Given the description of an element on the screen output the (x, y) to click on. 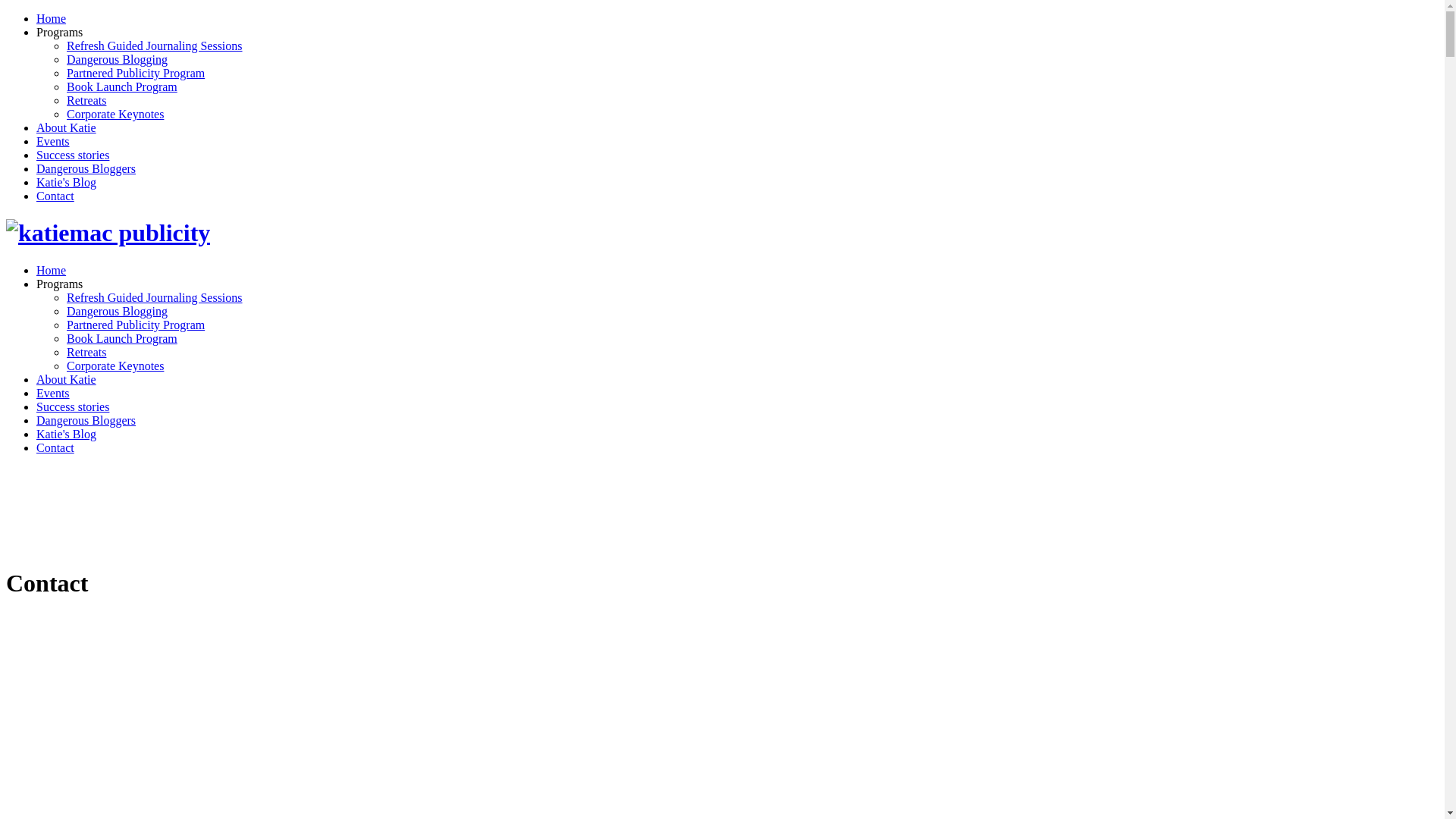
Events Element type: text (52, 140)
Corporate Keynotes Element type: text (114, 113)
Refresh Guided Journaling Sessions Element type: text (154, 45)
Refresh Guided Journaling Sessions Element type: text (154, 297)
Dangerous Bloggers Element type: text (85, 420)
Events Element type: text (52, 392)
Retreats Element type: text (86, 351)
About Katie Element type: text (66, 379)
Programs Element type: text (59, 283)
Corporate Keynotes Element type: text (114, 365)
Contact Element type: text (55, 447)
Success stories Element type: text (72, 406)
Home Element type: text (50, 18)
Katie's Blog Element type: text (66, 181)
Partnered Publicity Program Element type: text (135, 72)
Dangerous Blogging Element type: text (116, 59)
Home Element type: text (50, 269)
About Katie Element type: text (66, 127)
Book Launch Program Element type: text (121, 338)
Katie's Blog Element type: text (66, 433)
Contact Element type: text (55, 195)
Dangerous Blogging Element type: text (116, 310)
Success stories Element type: text (72, 154)
Dangerous Bloggers Element type: text (85, 168)
Retreats Element type: text (86, 100)
Partnered Publicity Program Element type: text (135, 324)
Book Launch Program Element type: text (121, 86)
Programs Element type: text (59, 31)
